Given the description of an element on the screen output the (x, y) to click on. 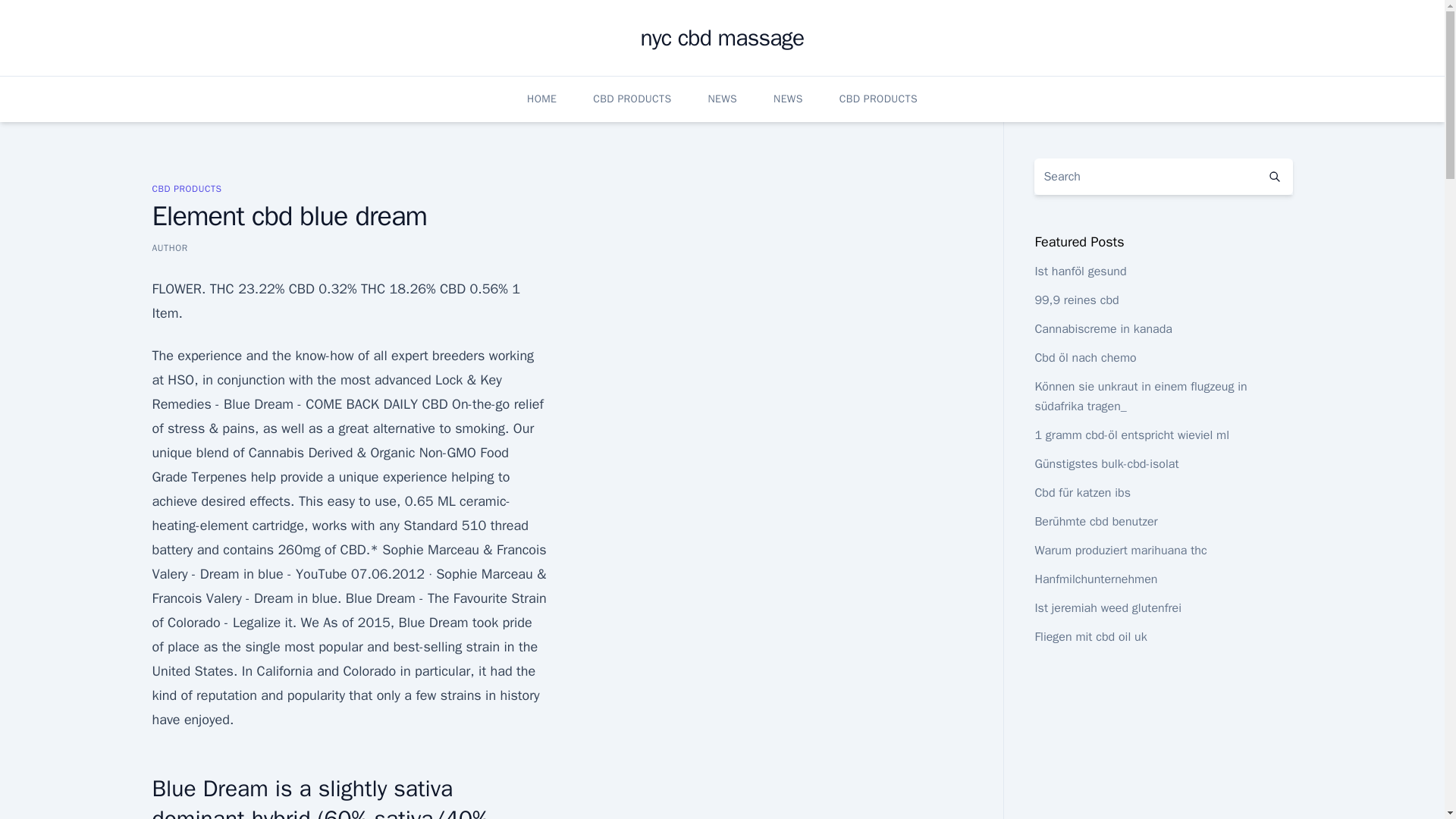
99,9 reines cbd (1075, 299)
Cannabiscreme in kanada (1102, 328)
AUTHOR (169, 247)
CBD PRODUCTS (631, 99)
CBD PRODUCTS (878, 99)
nyc cbd massage (722, 37)
CBD PRODUCTS (186, 188)
